Given the description of an element on the screen output the (x, y) to click on. 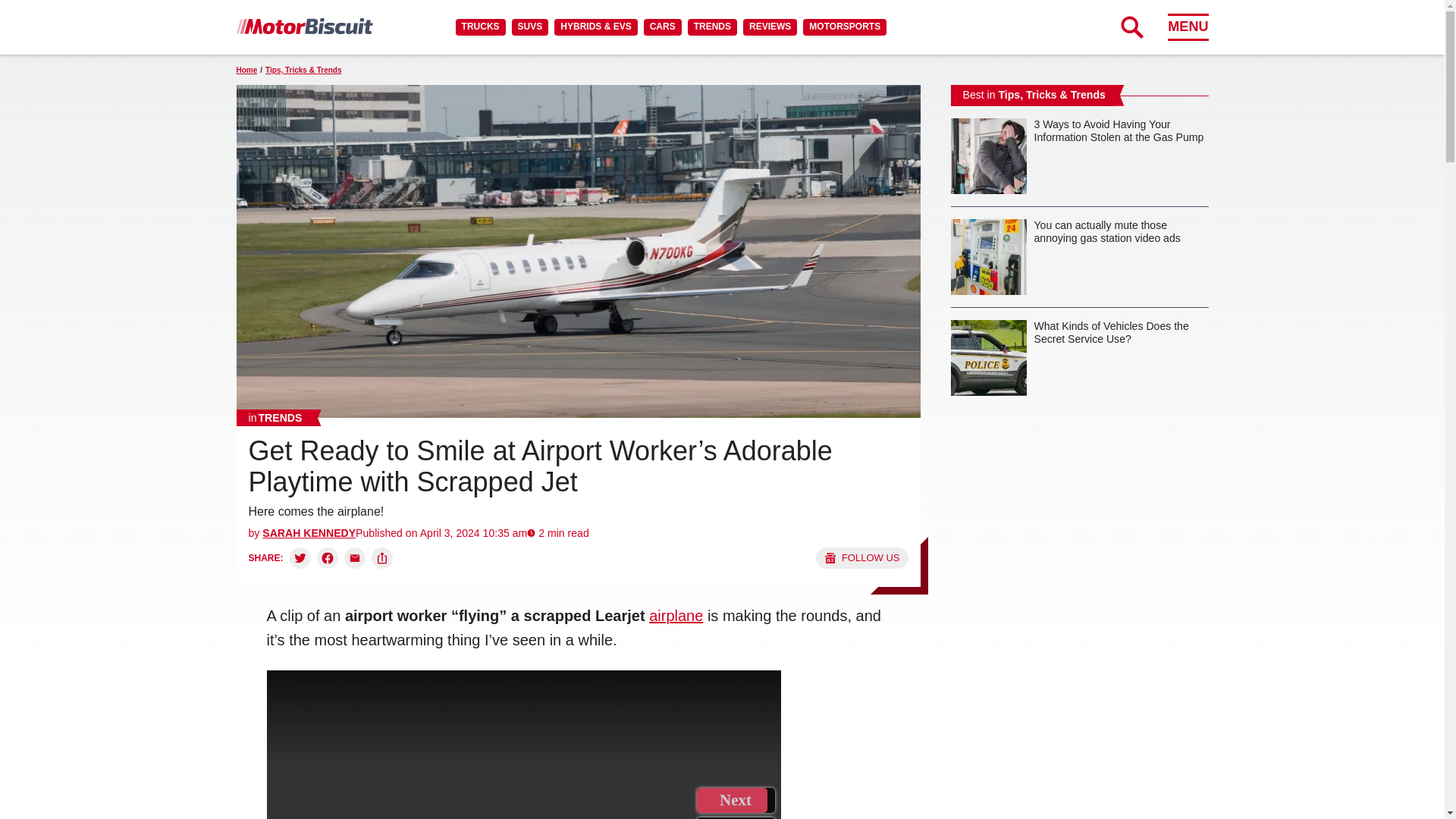
REVIEWS (769, 26)
CARS (662, 26)
TRENDS (711, 26)
TRUCKS (480, 26)
Trends (274, 417)
Follow us on Google News (861, 557)
SUVS (530, 26)
MotorBiscuit (303, 26)
MOTORSPORTS (844, 26)
Copy link and share:  (382, 557)
Expand Search (1131, 26)
MENU (1187, 26)
